Given the description of an element on the screen output the (x, y) to click on. 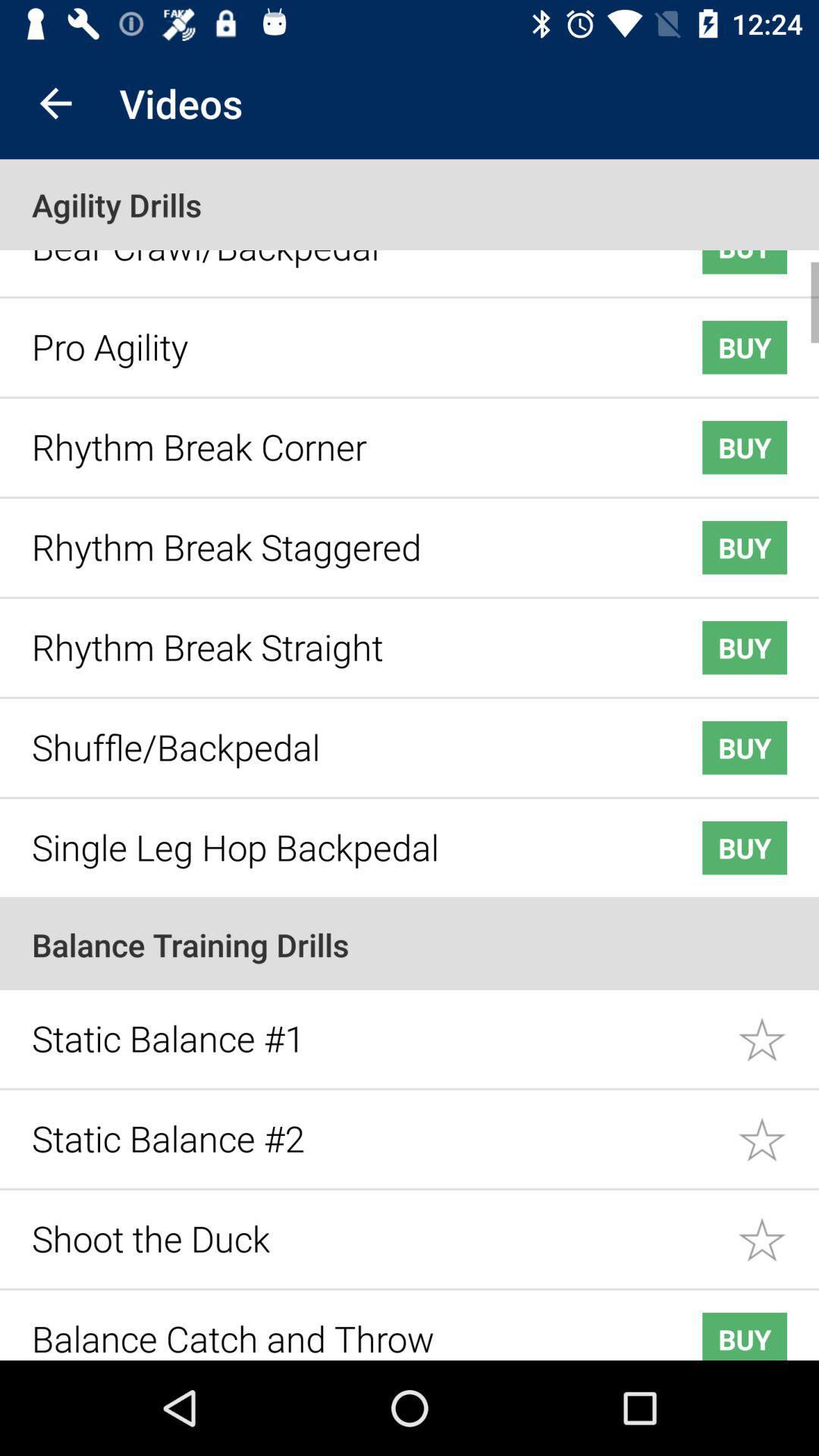
press the icon to the left of the videos (55, 103)
